Given the description of an element on the screen output the (x, y) to click on. 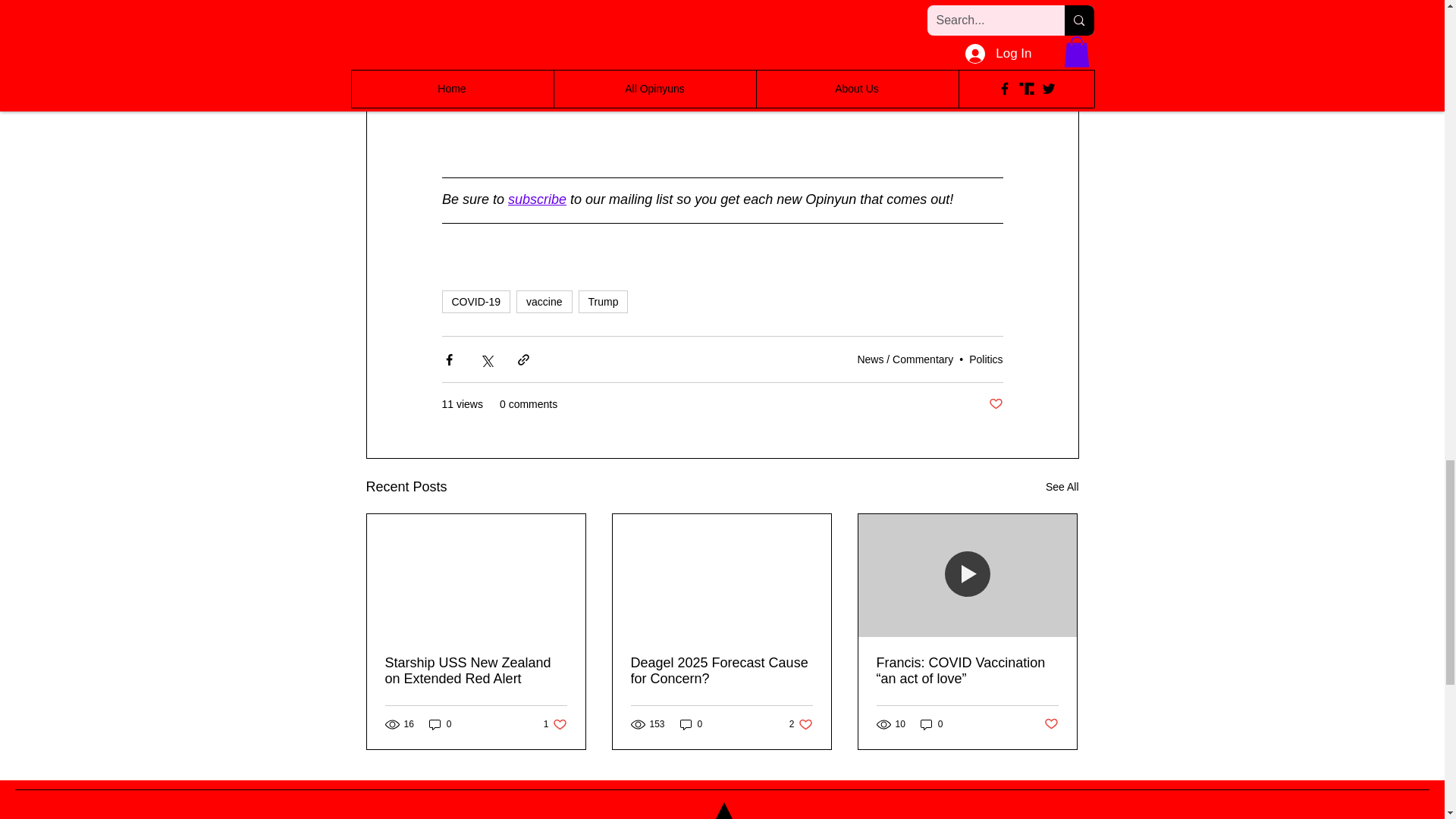
Post not marked as liked (995, 404)
COVID-19 (476, 301)
vaccine (544, 301)
Starship USS New Zealand on Extended Red Alert (476, 671)
Politics (986, 358)
0 (440, 724)
See All (1061, 486)
subscribe (537, 199)
Trump (603, 301)
